Given the description of an element on the screen output the (x, y) to click on. 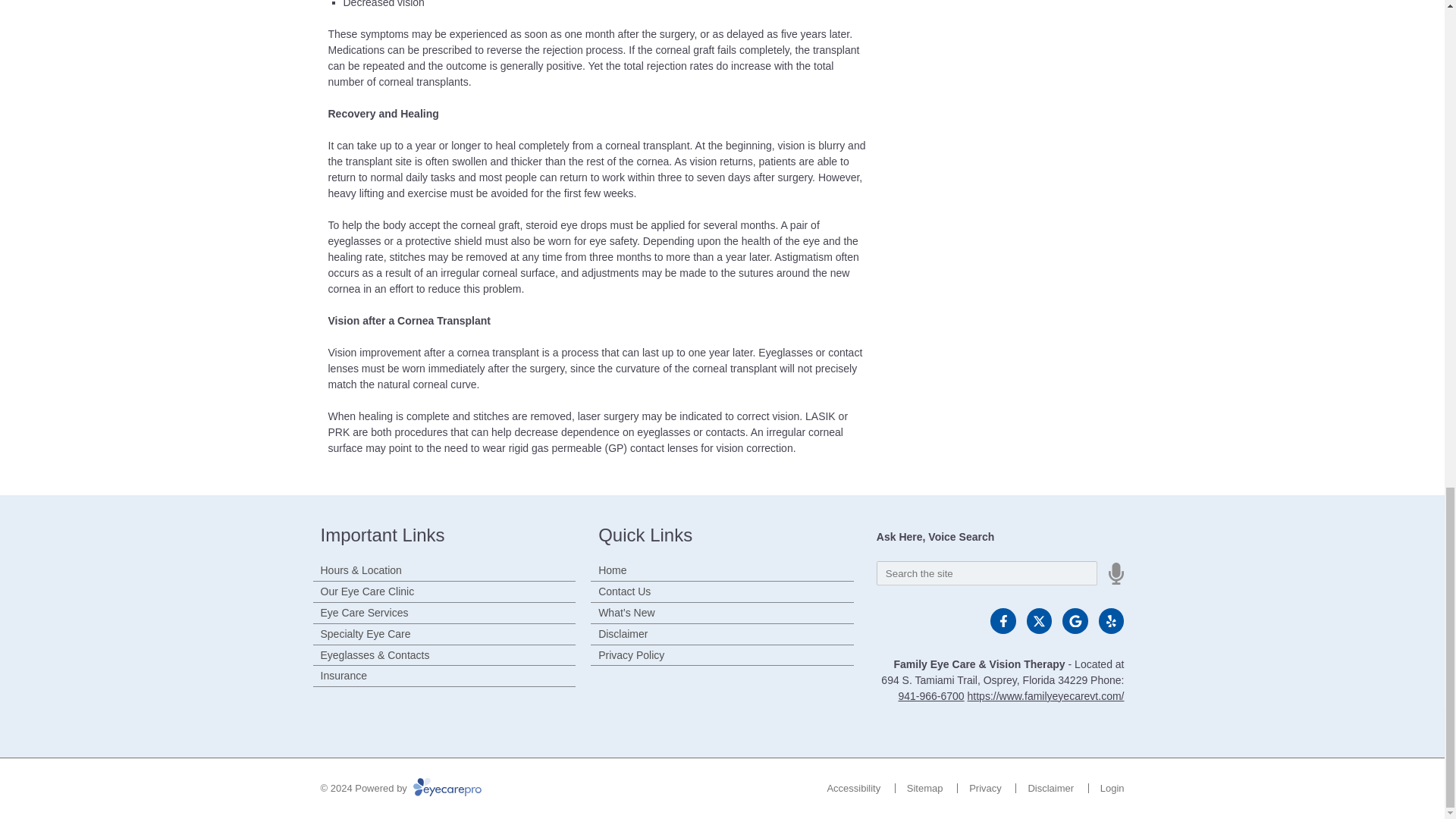
Speak Field (986, 573)
